Given the description of an element on the screen output the (x, y) to click on. 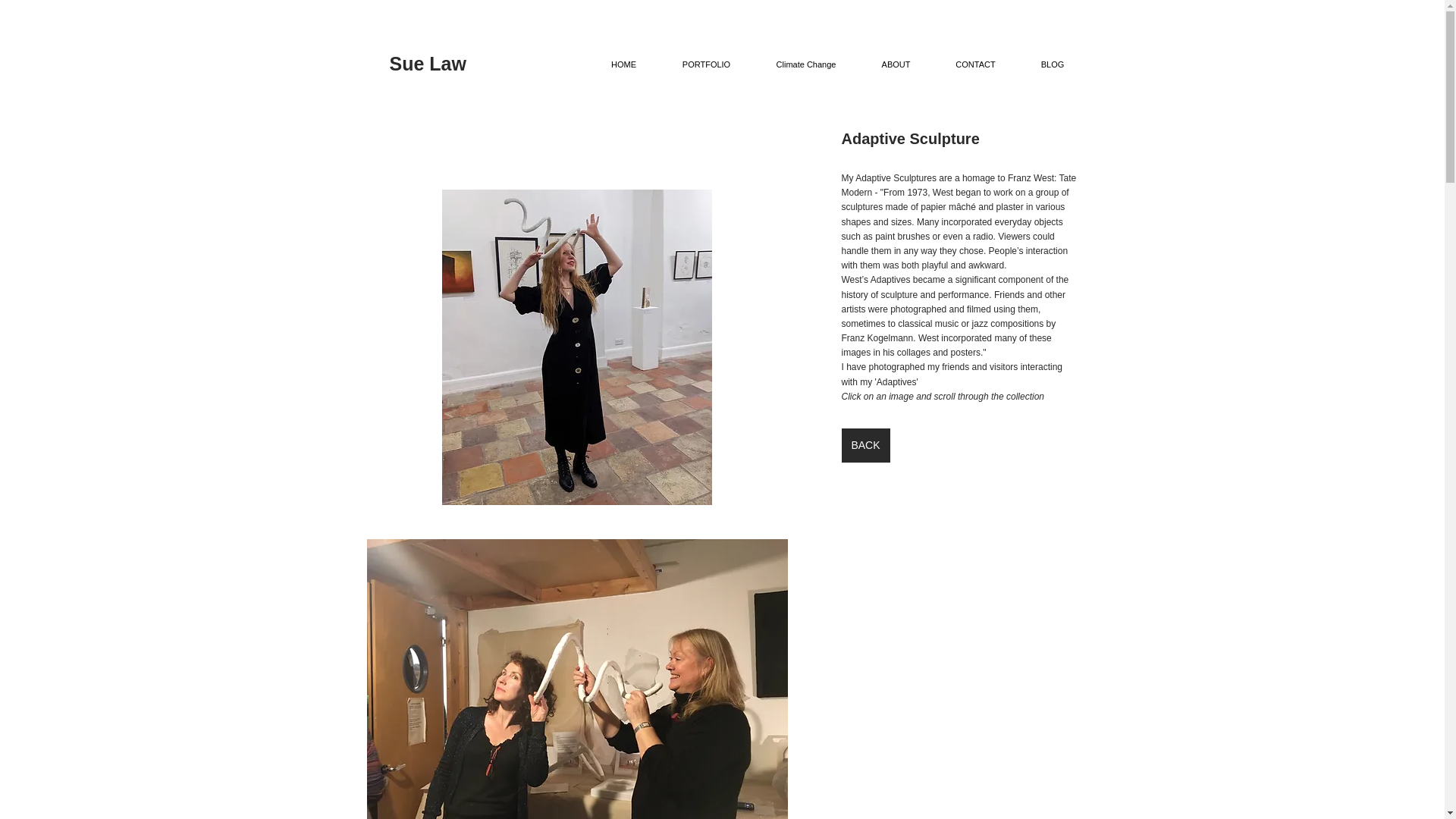
Sue Law (427, 63)
ABOUT (896, 63)
BLOG (1051, 63)
BACK (865, 445)
CONTACT (975, 63)
HOME (623, 63)
